Given the description of an element on the screen output the (x, y) to click on. 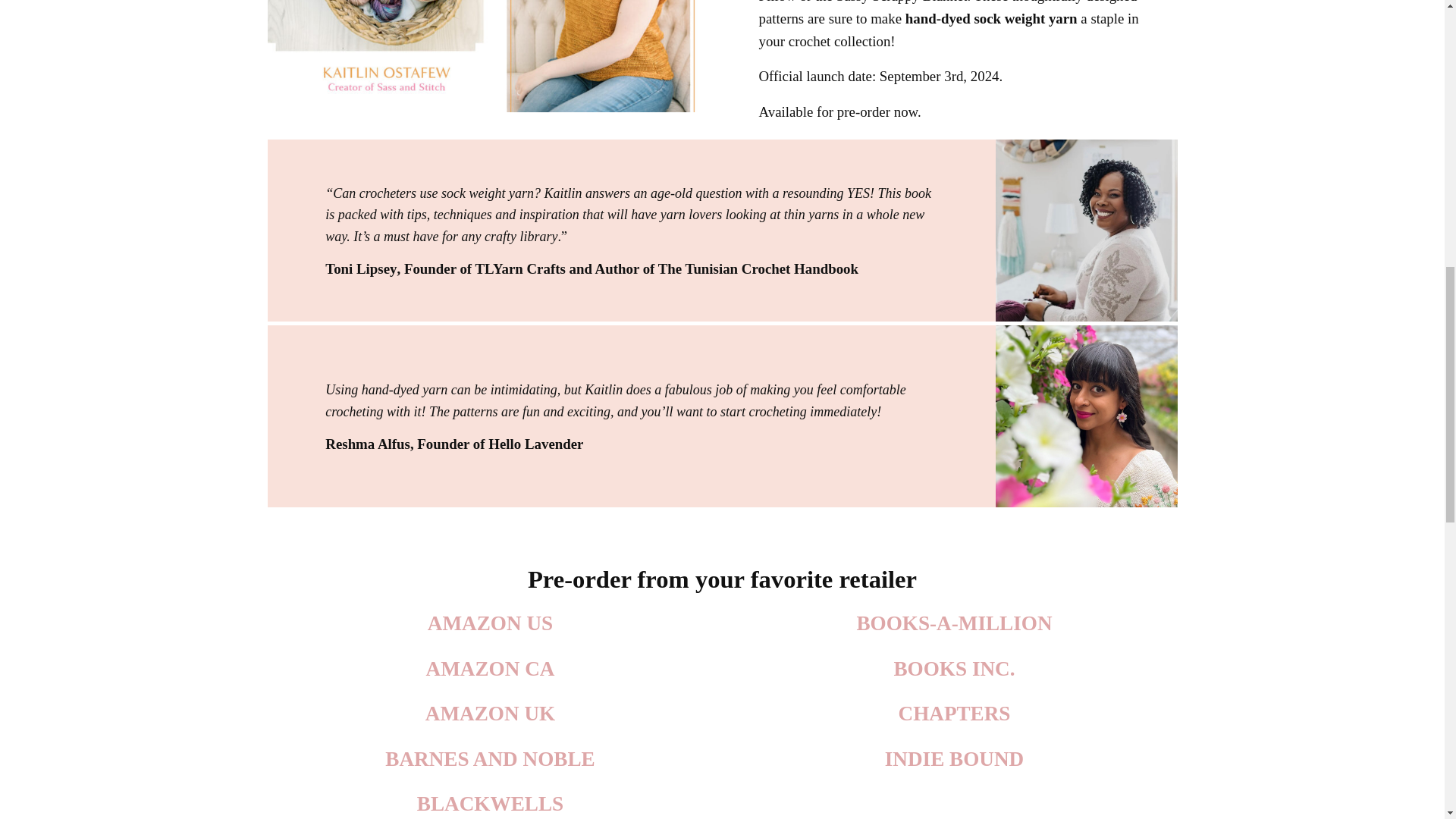
CHAPTERS (954, 712)
AMAZON UK (489, 712)
AMAZON US (490, 622)
BARNES AND NOBLE (489, 758)
AMAZON CA (490, 668)
BOOKS INC. (953, 668)
BLACKWELLS (489, 803)
INDIE BOUND (954, 758)
BOOKS-A-MILLION (953, 622)
